Given the description of an element on the screen output the (x, y) to click on. 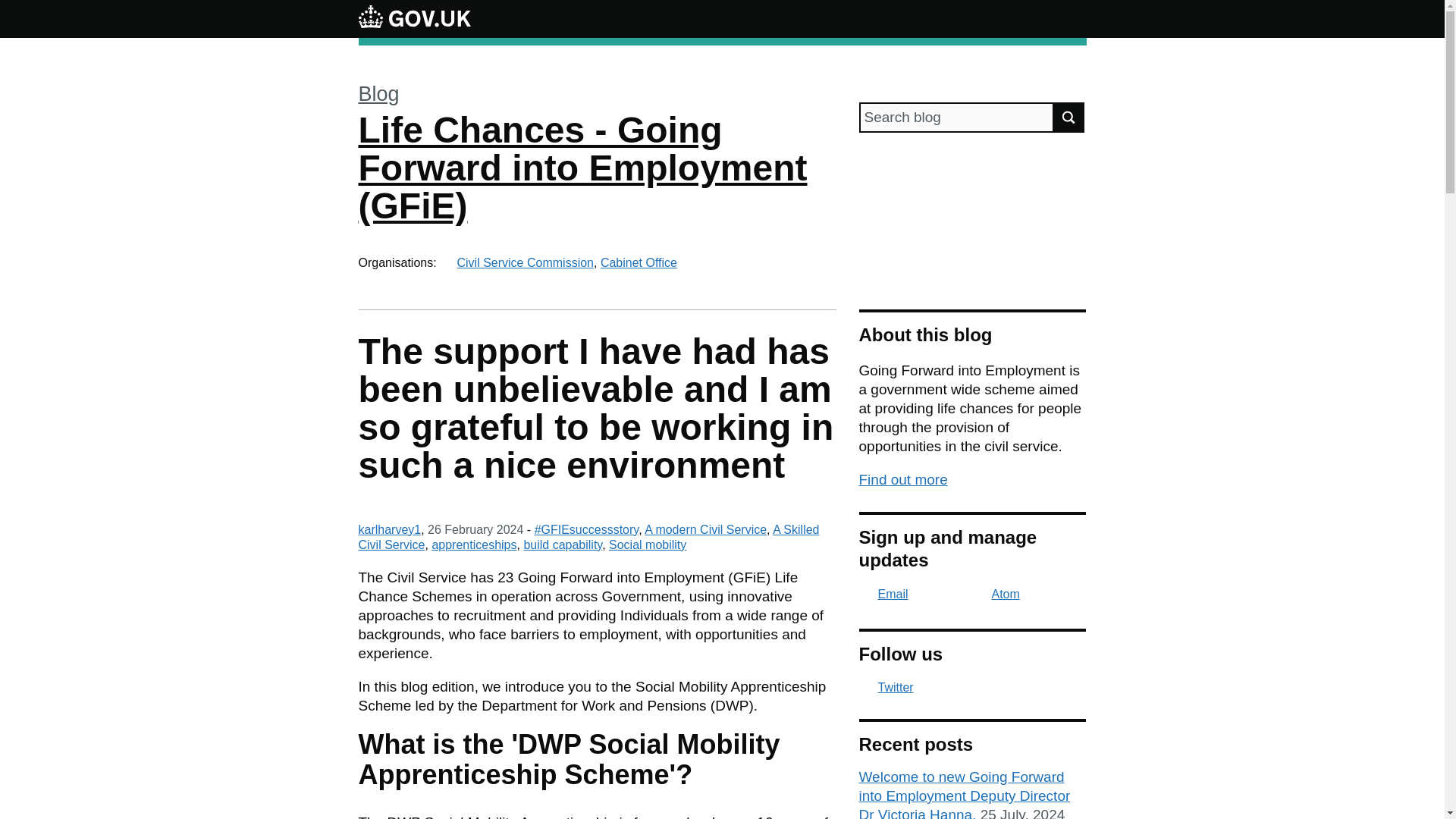
build capability (562, 544)
Search (1069, 117)
A modern Civil Service (706, 529)
GOV.UK (414, 18)
apprenticeships (473, 544)
Search (1069, 117)
Email (883, 594)
Go to the GOV.UK homepage (414, 18)
karlharvey1 (389, 529)
Cabinet Office (638, 262)
Skip to main content (11, 7)
Blog (378, 93)
Atom (995, 594)
Civil Service Commission (524, 262)
